Given the description of an element on the screen output the (x, y) to click on. 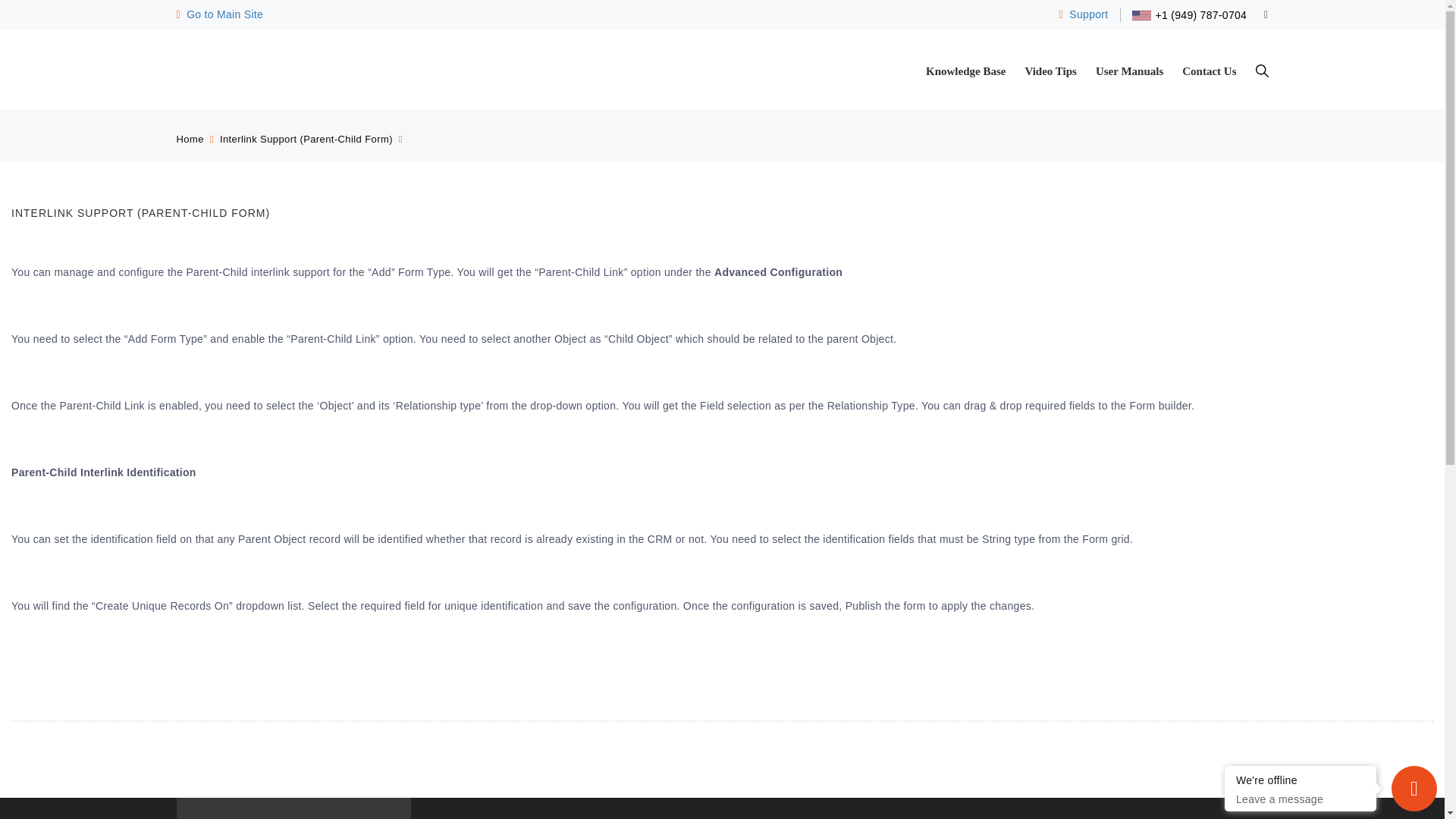
Contact Us (1209, 70)
CRMJetty (219, 14)
Knowledge Base (966, 70)
User Manuals (1129, 70)
Support (1083, 14)
Support (1083, 14)
Home (189, 138)
Video Tips (1051, 70)
Go to Main Site (219, 14)
Search (1261, 70)
